Given the description of an element on the screen output the (x, y) to click on. 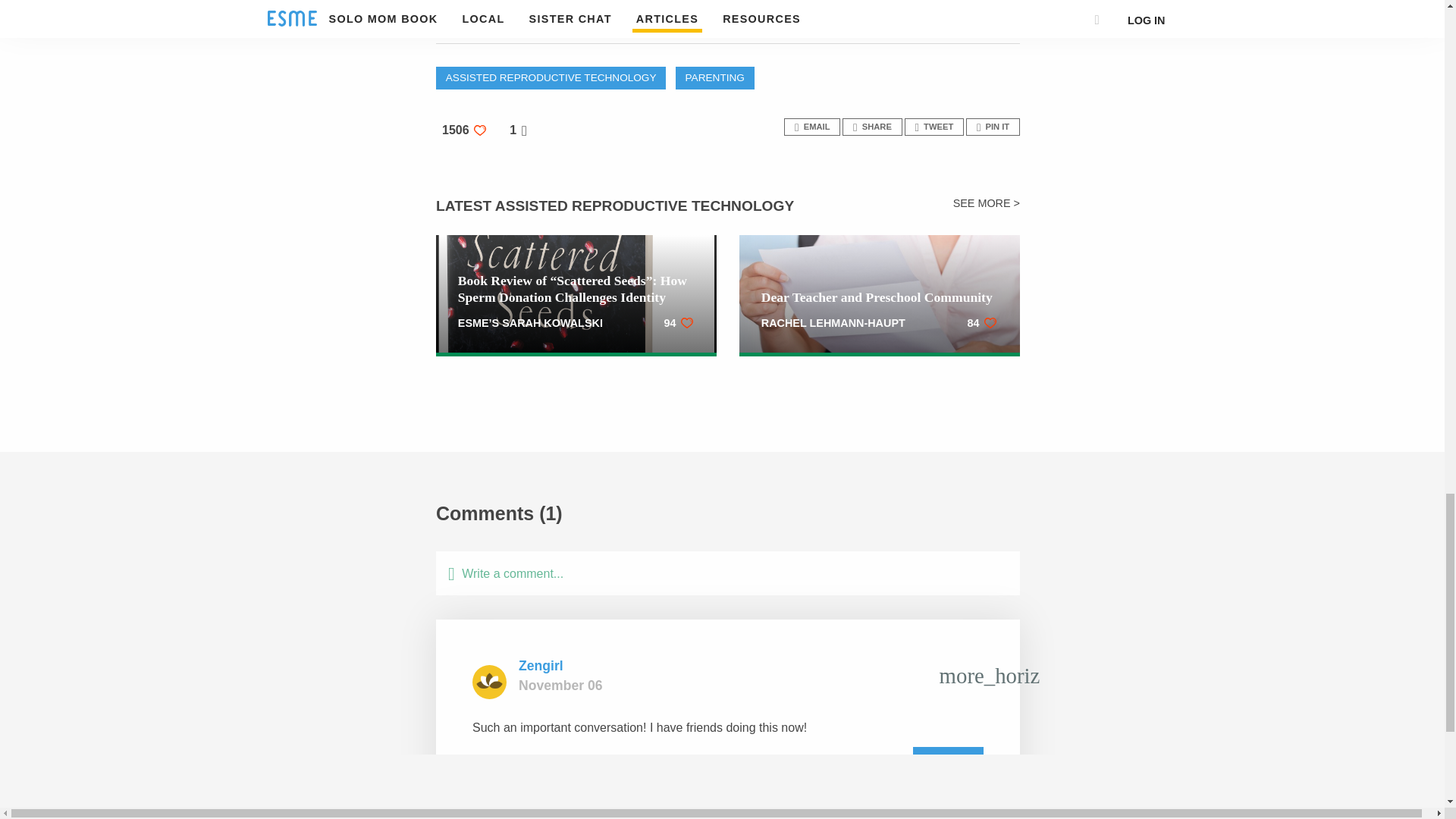
1506 (467, 130)
ASSISTED REPRODUCTIVE TECHNOLOGY (550, 77)
contact us (564, 21)
PARENTING (714, 77)
